Given the description of an element on the screen output the (x, y) to click on. 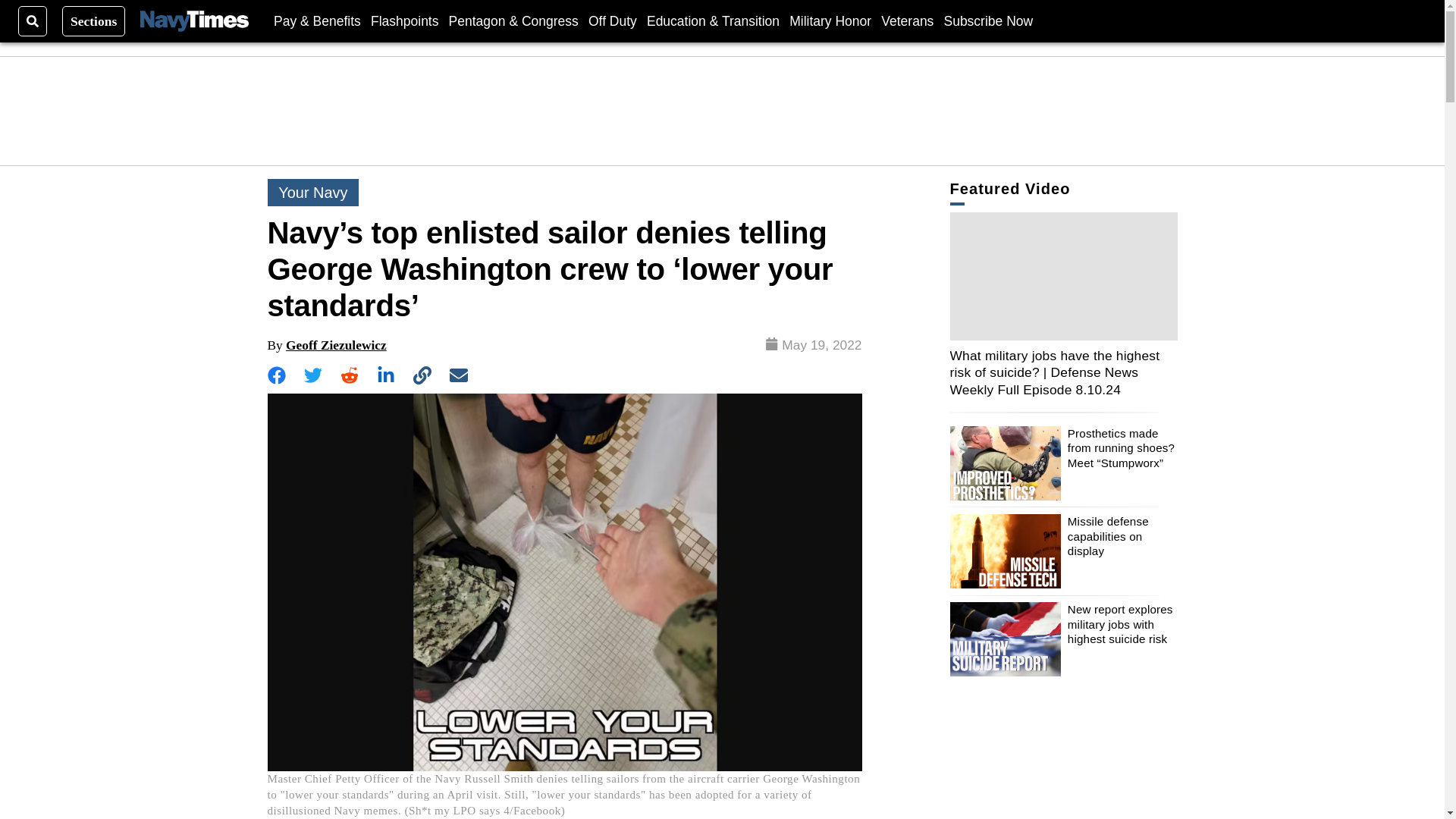
Navy Times Logo (193, 20)
Off Duty (612, 20)
Veterans (906, 20)
Military Honor (829, 20)
Flashpoints (405, 20)
Sections (93, 20)
